Given the description of an element on the screen output the (x, y) to click on. 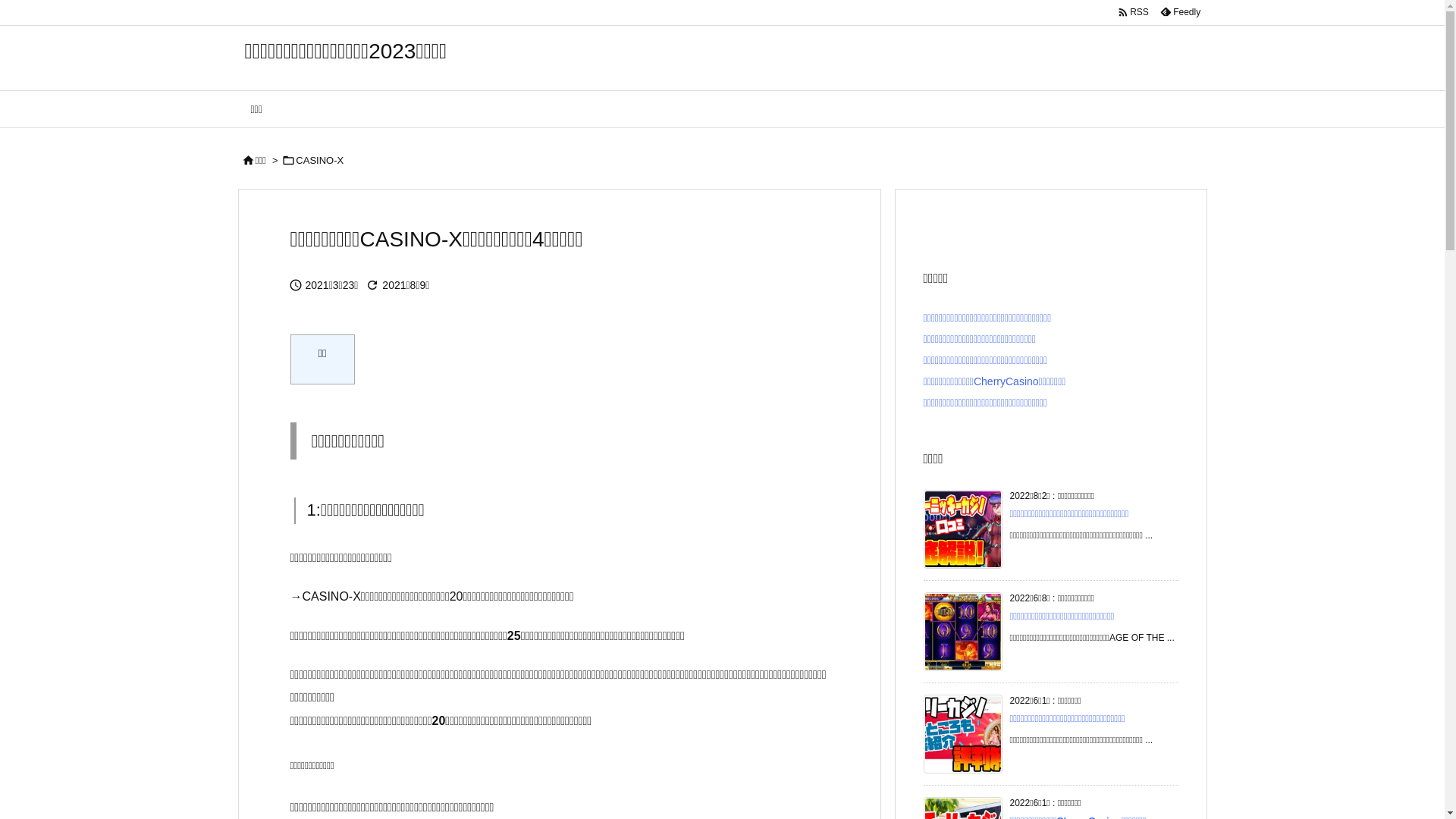
CASINO-X Element type: text (319, 160)
  Feedly  Element type: text (1179, 11)
